Given the description of an element on the screen output the (x, y) to click on. 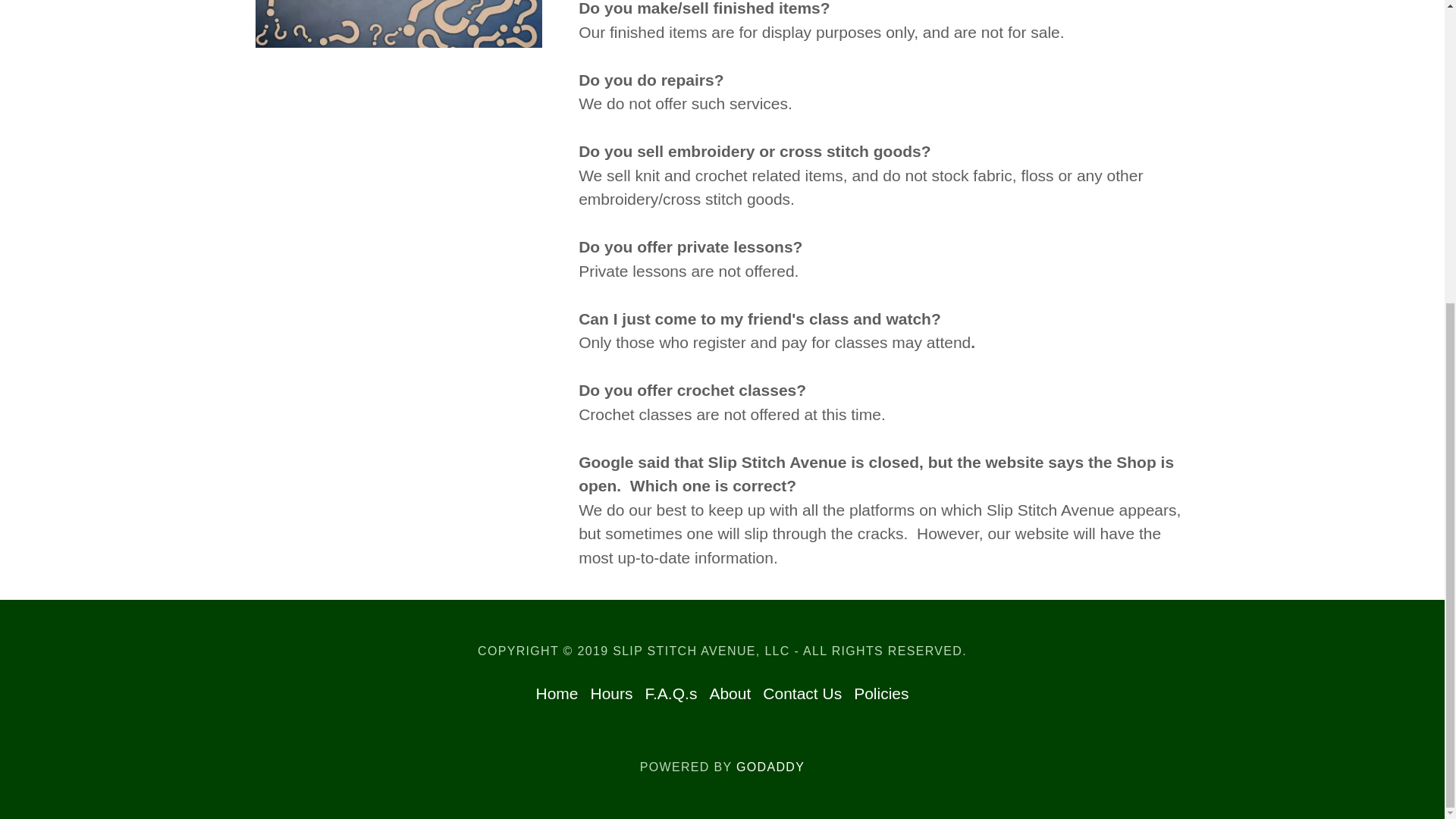
Home (556, 693)
F.A.Q.s (671, 693)
GODADDY (770, 766)
About (730, 693)
Hours (611, 693)
Policies (880, 693)
Contact Us (802, 693)
